Given the description of an element on the screen output the (x, y) to click on. 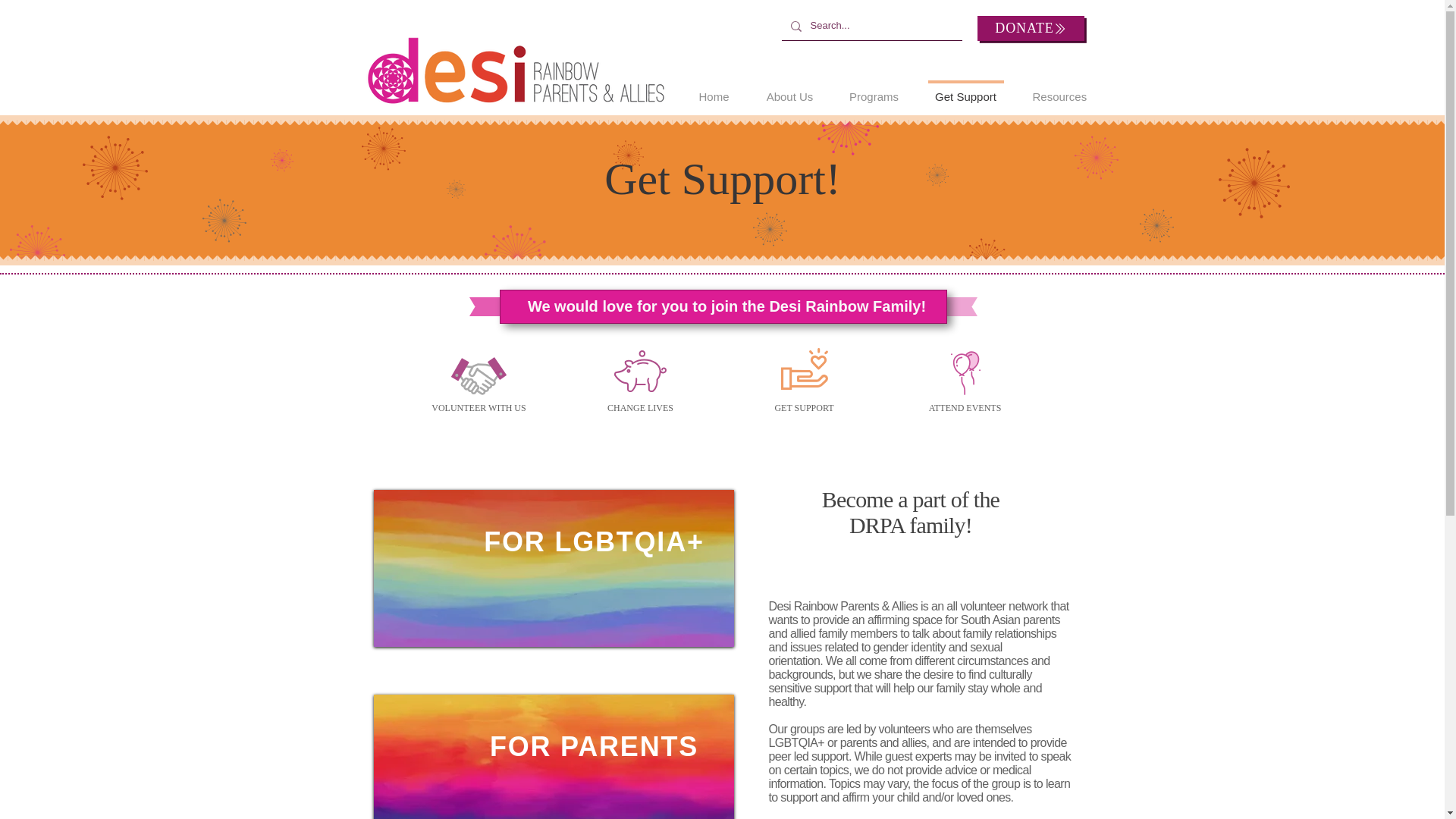
Get Support (964, 89)
VOLUNTEER WITH US (478, 408)
Resources (1057, 89)
CHANGE LIVES (640, 408)
About Us (789, 89)
Home (713, 89)
DONATE (1029, 27)
